Given the description of an element on the screen output the (x, y) to click on. 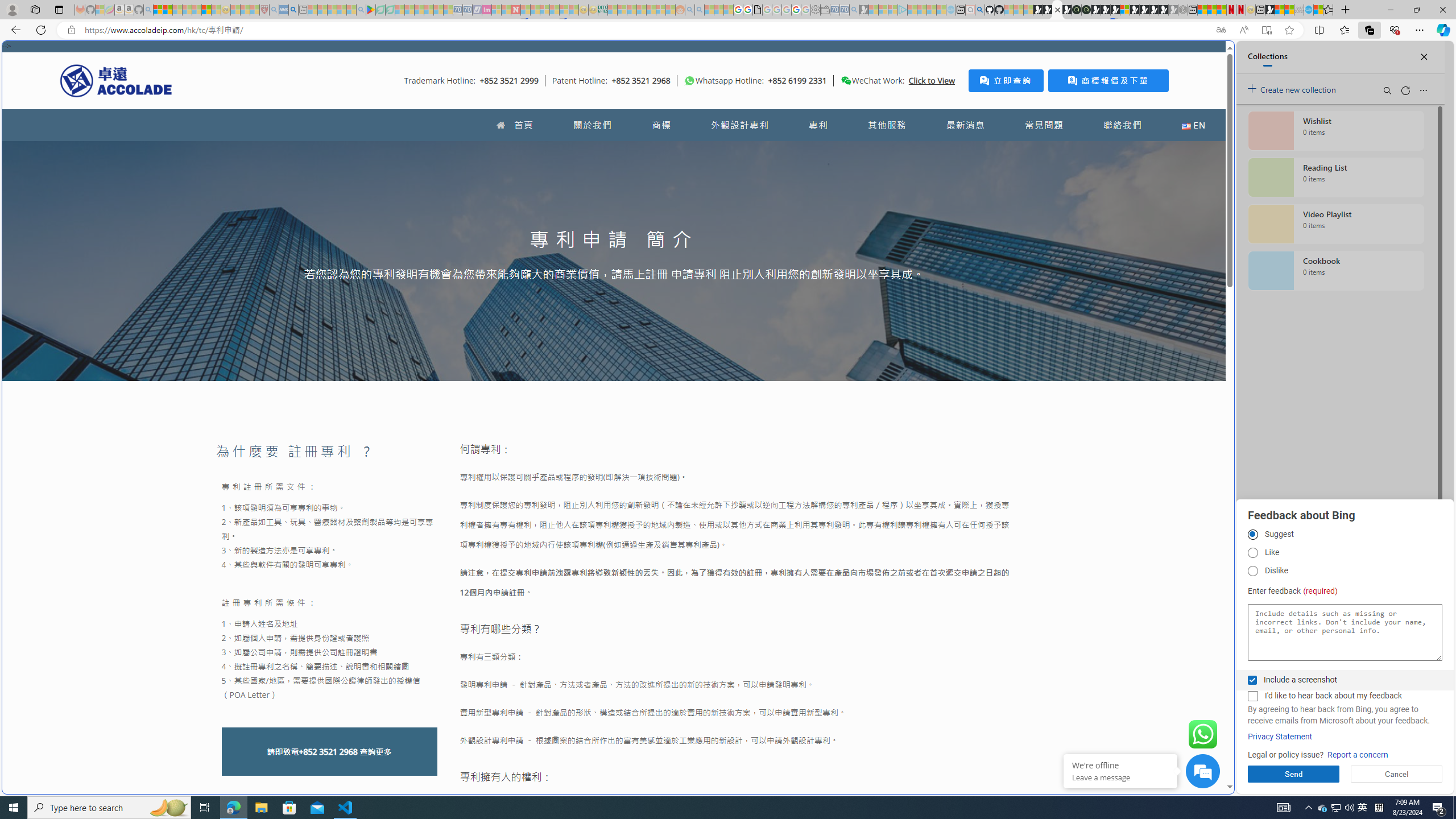
github - Search (979, 9)
Search or enter web address (922, 108)
Show translate options (1220, 29)
